Given the description of an element on the screen output the (x, y) to click on. 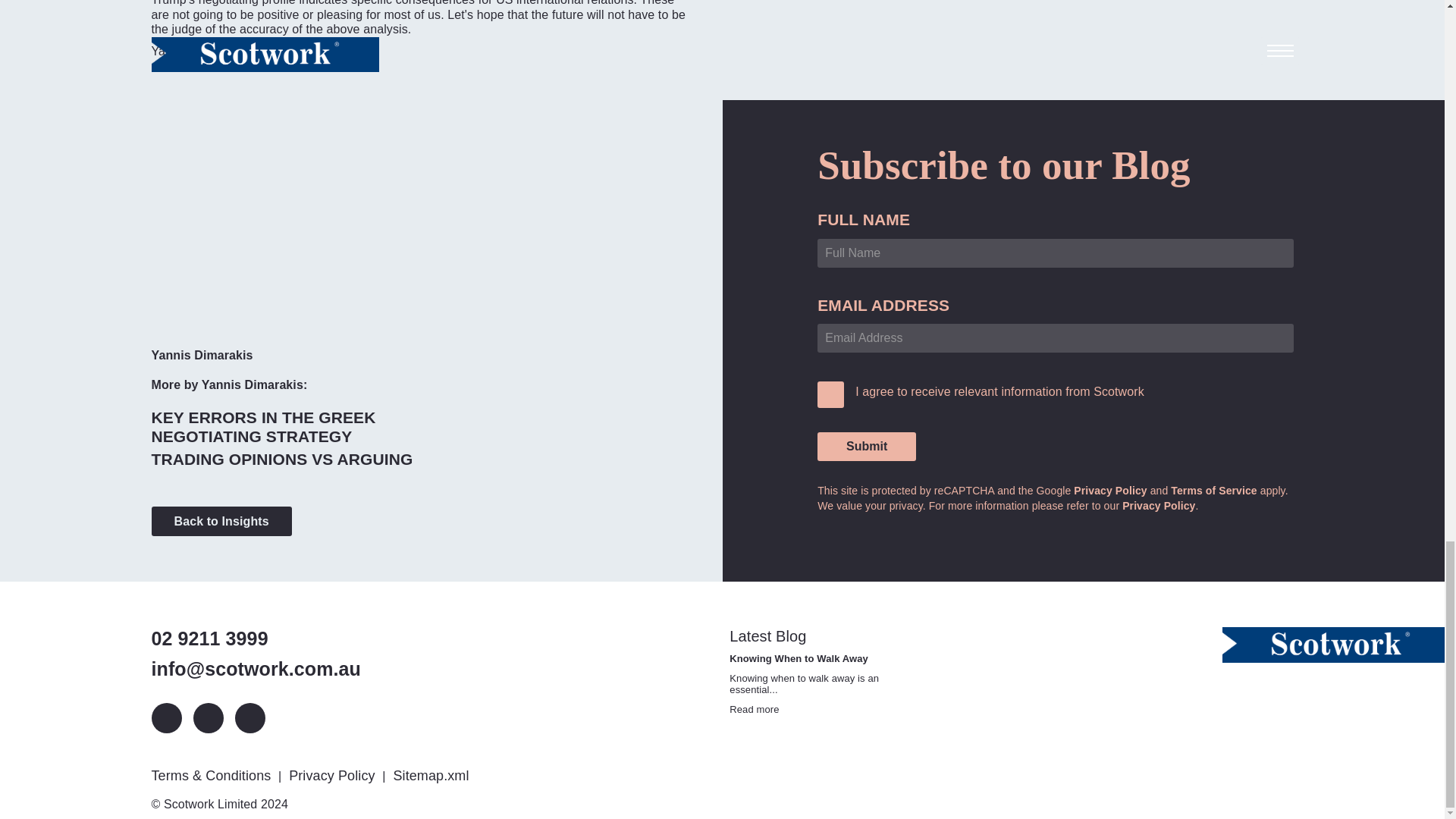
02 9211 3999 (256, 638)
Google Terms (1213, 490)
twitter (207, 717)
Sitemap.xml (432, 775)
TRADING OPINIONS VS ARGUING (282, 458)
Scotwork privacy policy (1158, 505)
Key Errors in the Greek Negotiating Strategy (317, 426)
Back to Insights (221, 521)
Submit (865, 446)
Terms of Service (1213, 490)
Trading Opinions vs Arguing (282, 458)
Read more (753, 708)
Privacy Policy (1158, 505)
facebook (249, 717)
Google Privacy Policy (1110, 490)
